Given the description of an element on the screen output the (x, y) to click on. 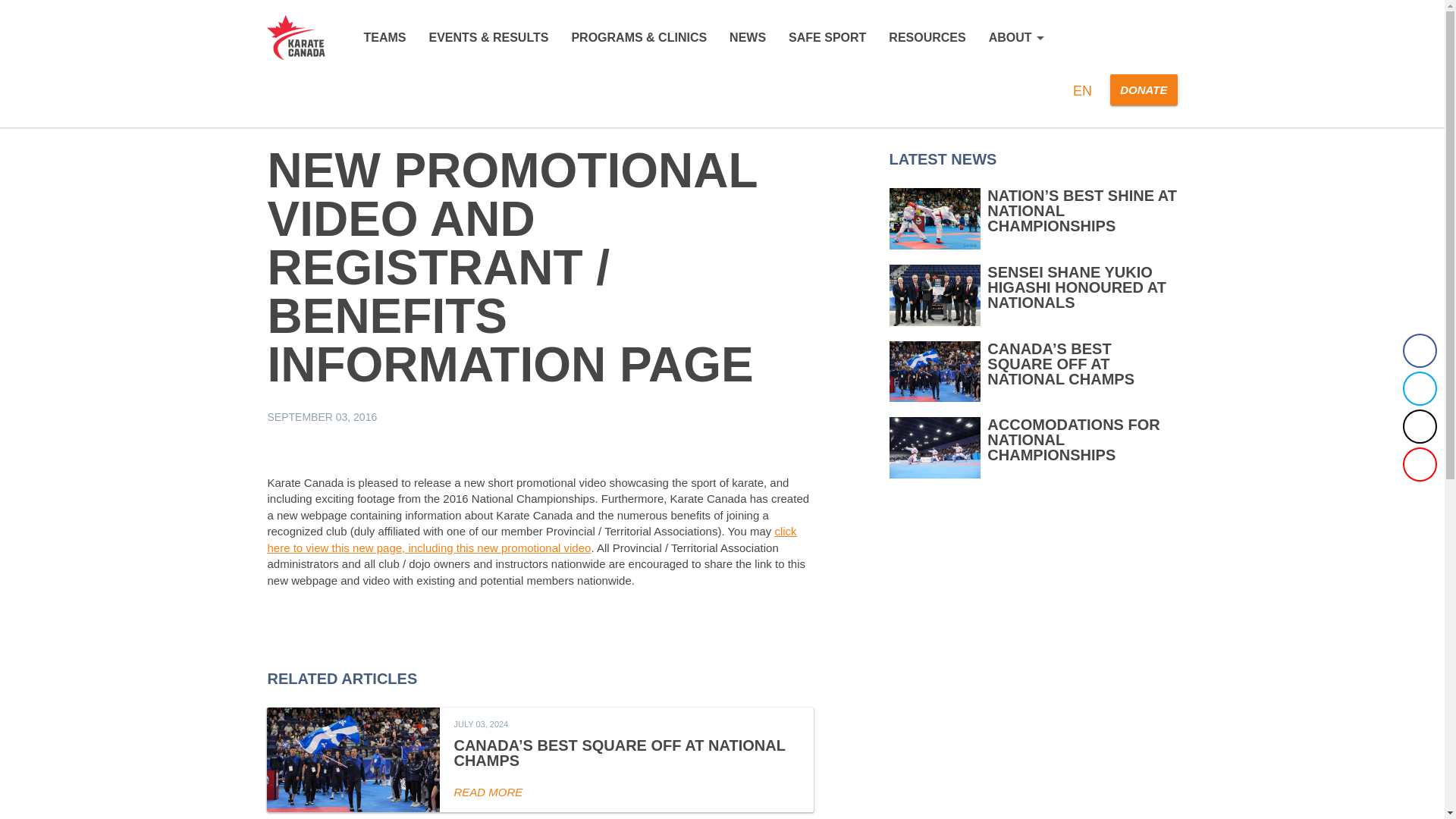
SAFE SPORT (827, 38)
NEWS (747, 38)
ABOUT (1015, 38)
RESOURCES (926, 38)
TEAMS (384, 38)
